Given the description of an element on the screen output the (x, y) to click on. 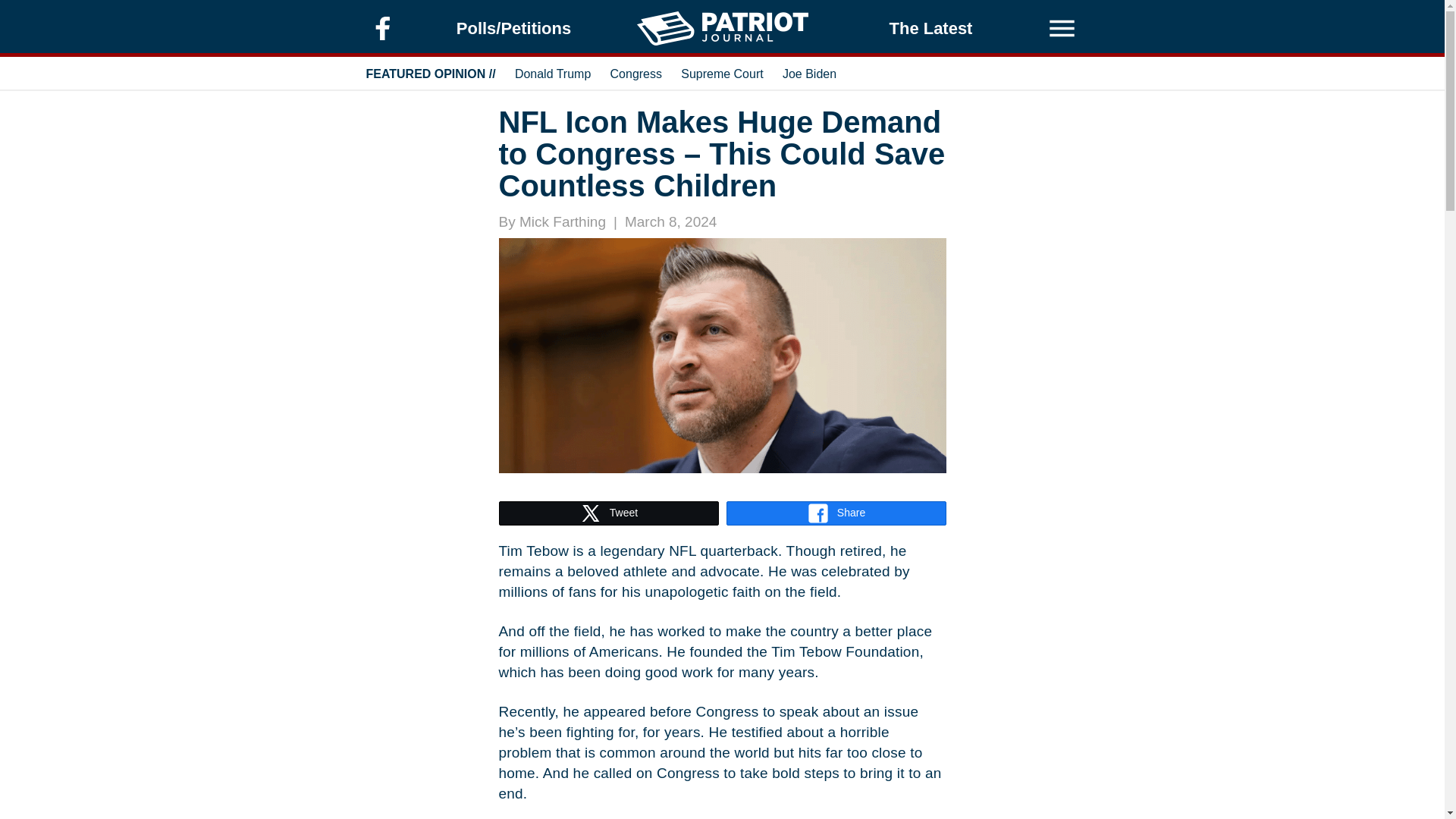
Mick Farthing (562, 221)
Supreme Court (721, 73)
Donald Trump (553, 73)
Share (835, 513)
Tweet (608, 513)
Joe Biden (809, 73)
Congress (636, 73)
The Latest (930, 28)
